Given the description of an element on the screen output the (x, y) to click on. 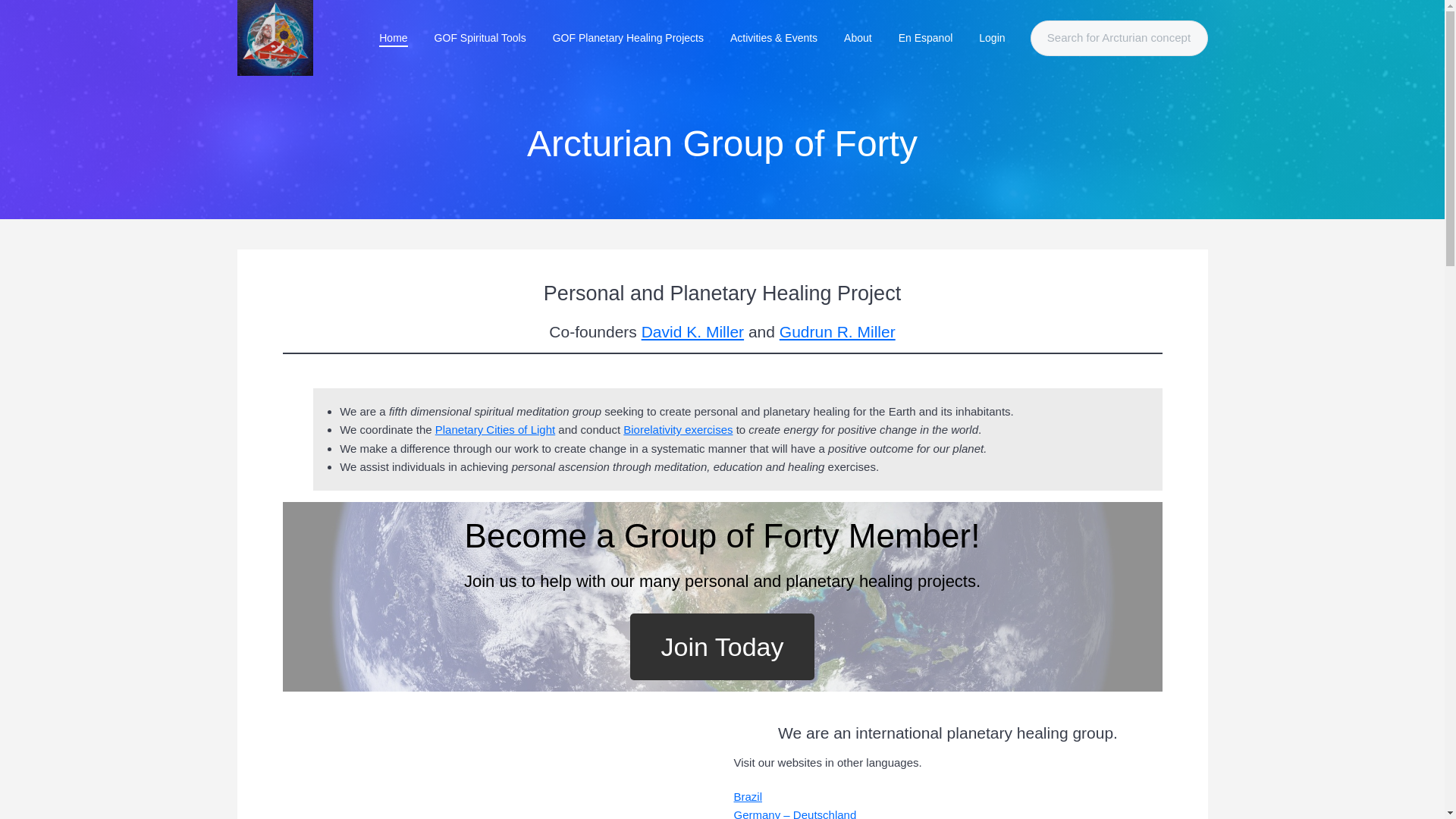
GOF Spiritual Tools (479, 38)
En Espanol (925, 38)
Brazil (747, 796)
Biorelativity exercises (677, 429)
Search (45, 18)
Planetary Cities of Light (494, 429)
Join Today (722, 646)
Gudrun R. Miller (836, 331)
Welcome to the Group of Forty Youtube Channel (471, 770)
Home (393, 38)
Login (991, 38)
About (858, 38)
GOF Planetary Healing Projects (627, 38)
David K. Miller (693, 331)
